Given the description of an element on the screen output the (x, y) to click on. 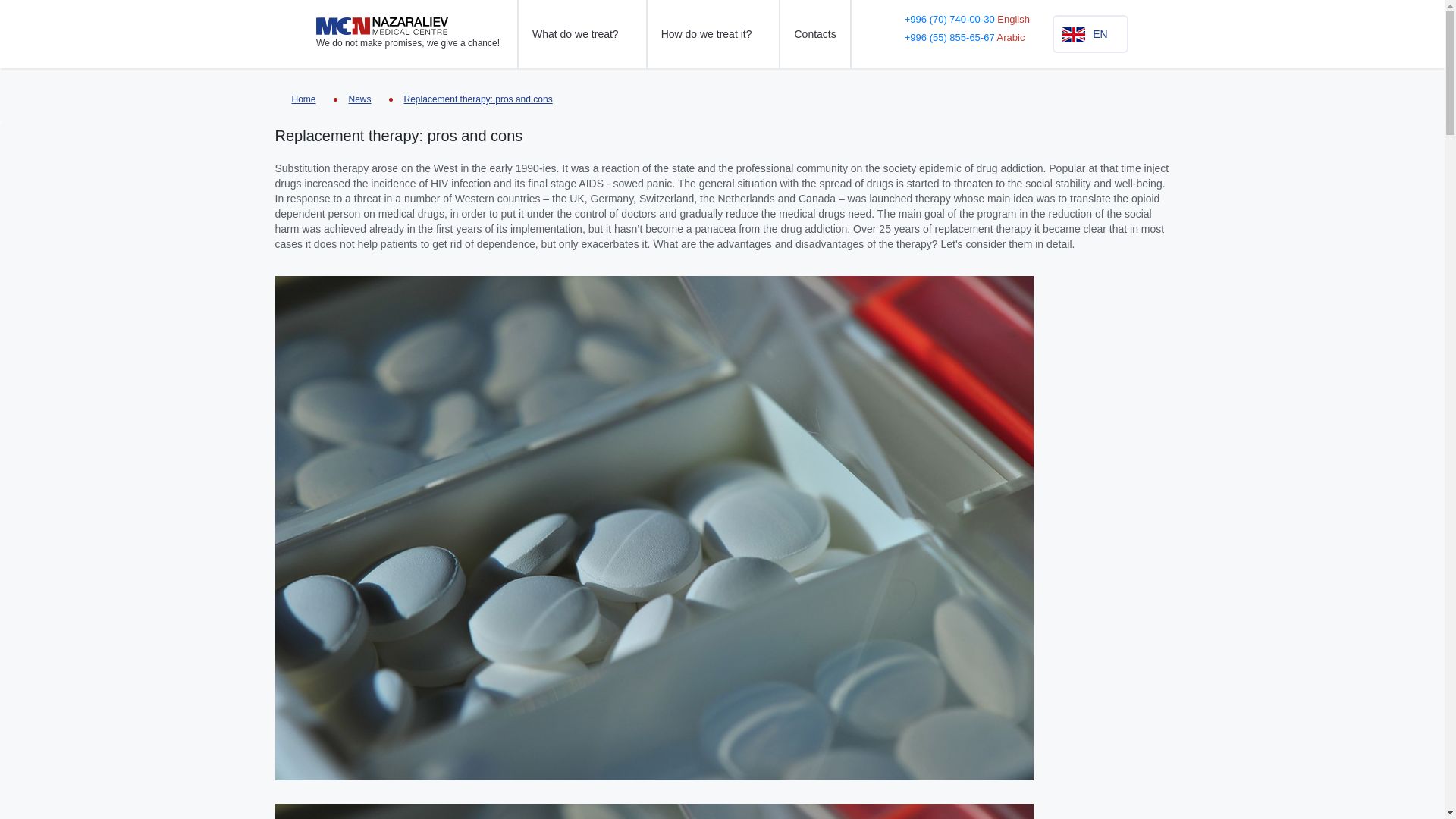
Contacts (814, 33)
Replacement therapy: pros and cons (478, 99)
How do we treat it? (713, 33)
What do we treat? (582, 33)
EN (1090, 34)
News (360, 99)
Home (295, 99)
We do not make promises, we give a chance! (407, 33)
